Given the description of an element on the screen output the (x, y) to click on. 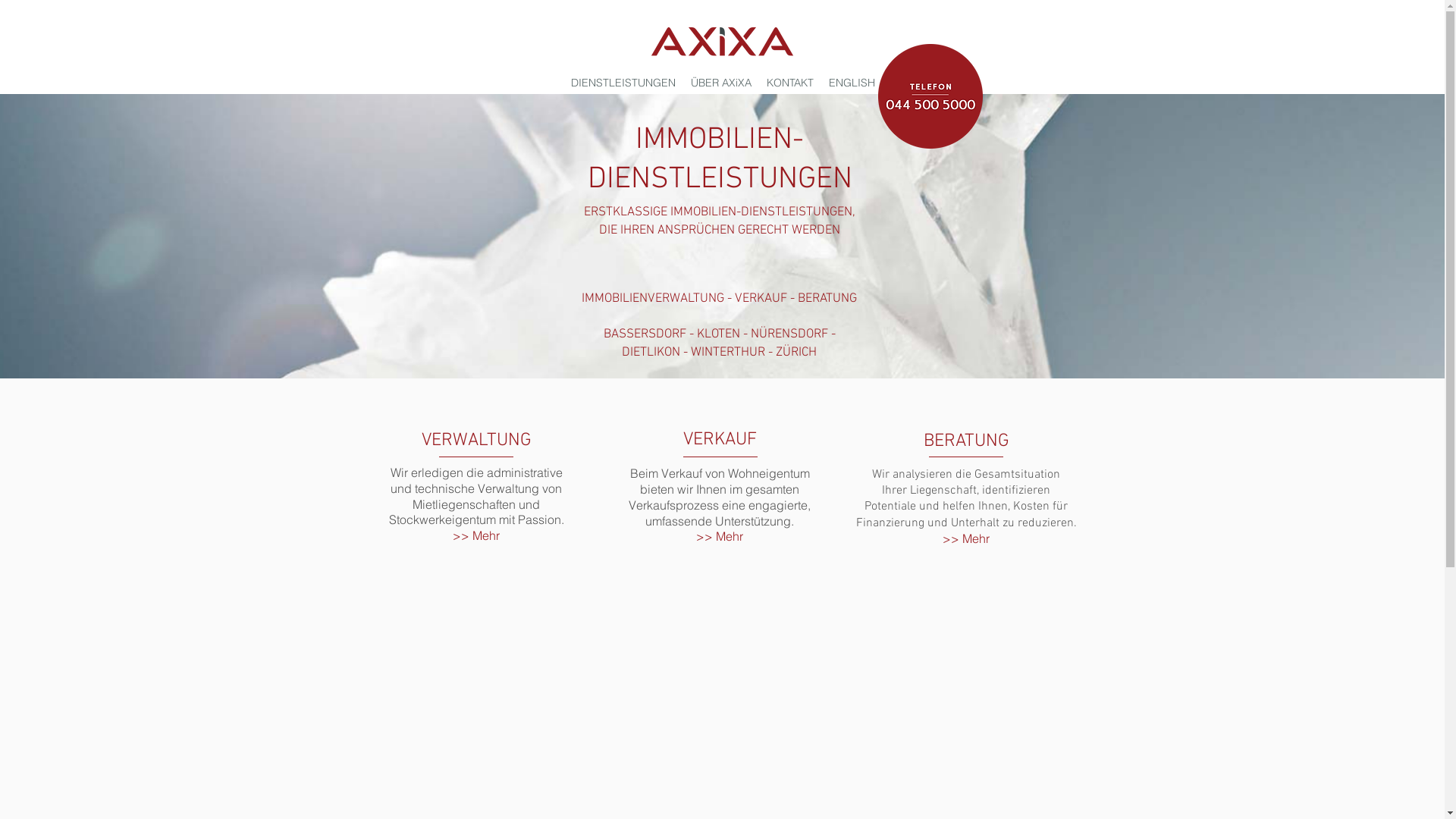
VERKAUF Element type: text (719, 437)
>> Mehr Element type: text (719, 535)
ENGLISH Element type: text (850, 82)
VERWALTUNG Element type: text (476, 437)
>> Mehr Element type: text (965, 538)
phone number button_v3.png Element type: hover (930, 95)
DIENSTLEISTUNGEN Element type: text (622, 82)
KONTAKT Element type: text (789, 82)
BERATUNG Element type: text (966, 438)
>> Mehr Element type: text (475, 534)
